Given the description of an element on the screen output the (x, y) to click on. 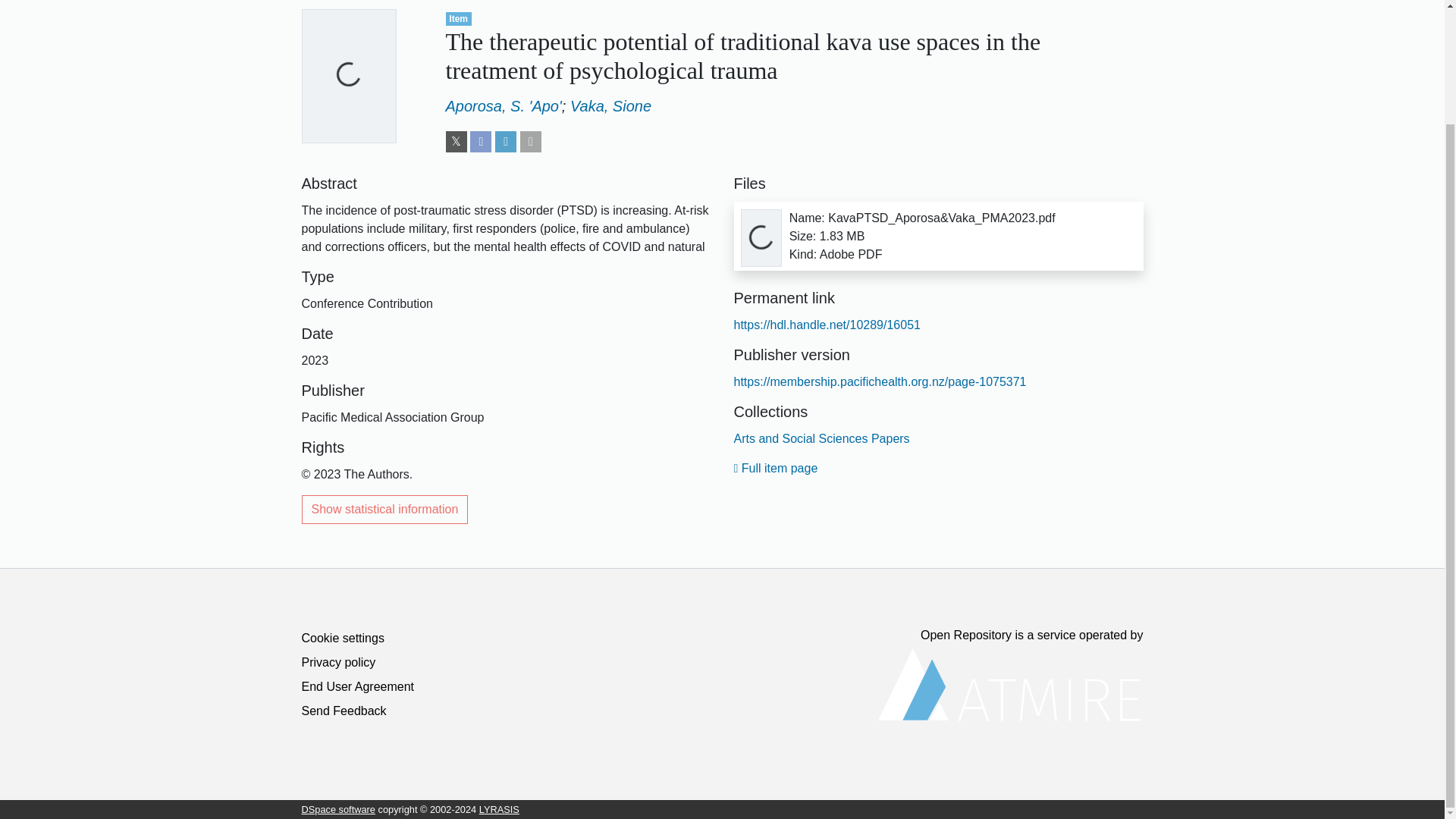
Full item page (775, 468)
Cookie settings (342, 637)
Privacy policy (338, 662)
Vaka, Sione (610, 105)
Show statistical information (384, 509)
Arts and Social Sciences Papers (821, 438)
Aporosa, S. 'Apo' (503, 105)
